Given the description of an element on the screen output the (x, y) to click on. 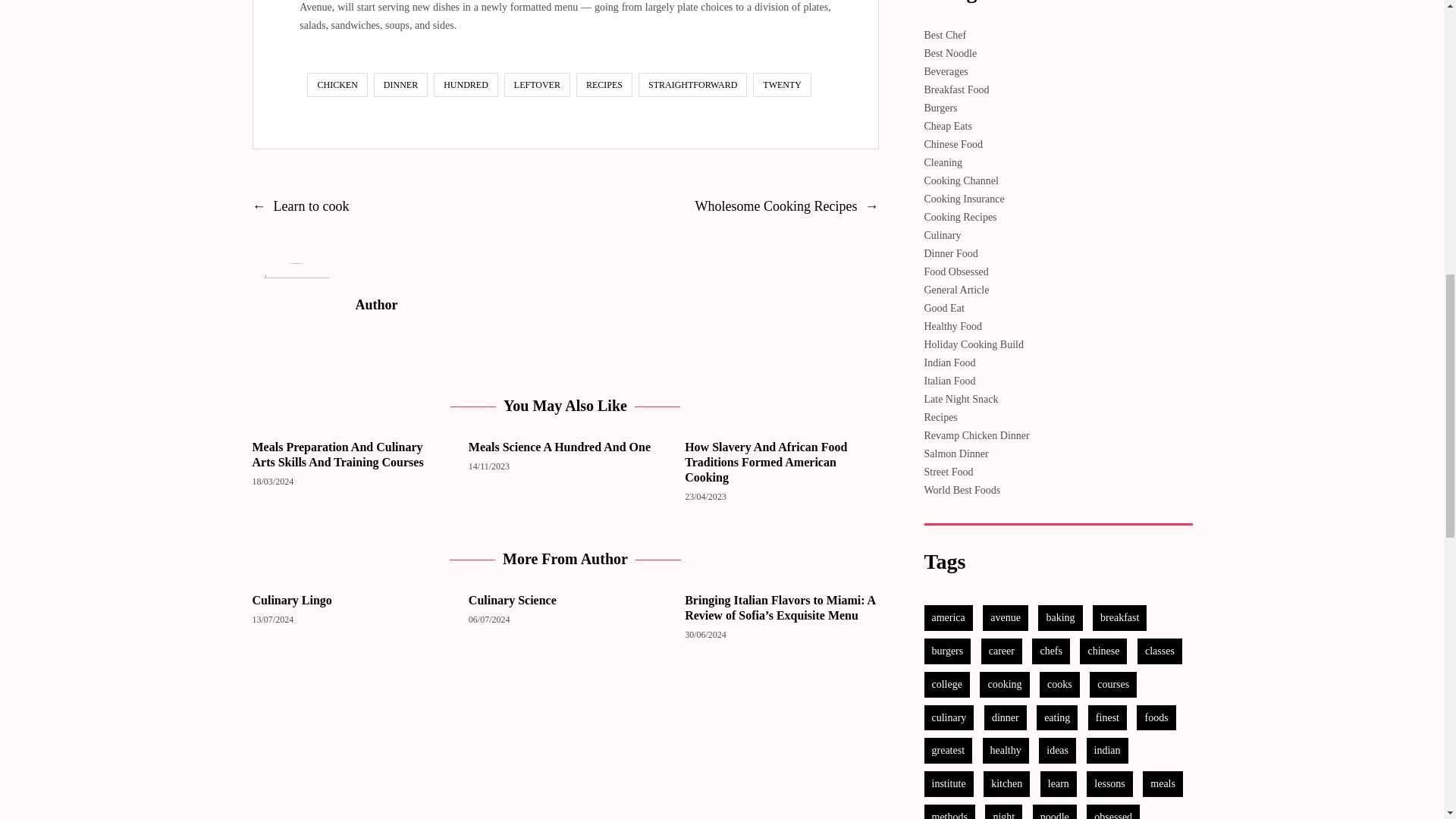
Author (295, 306)
Author (616, 304)
